Given the description of an element on the screen output the (x, y) to click on. 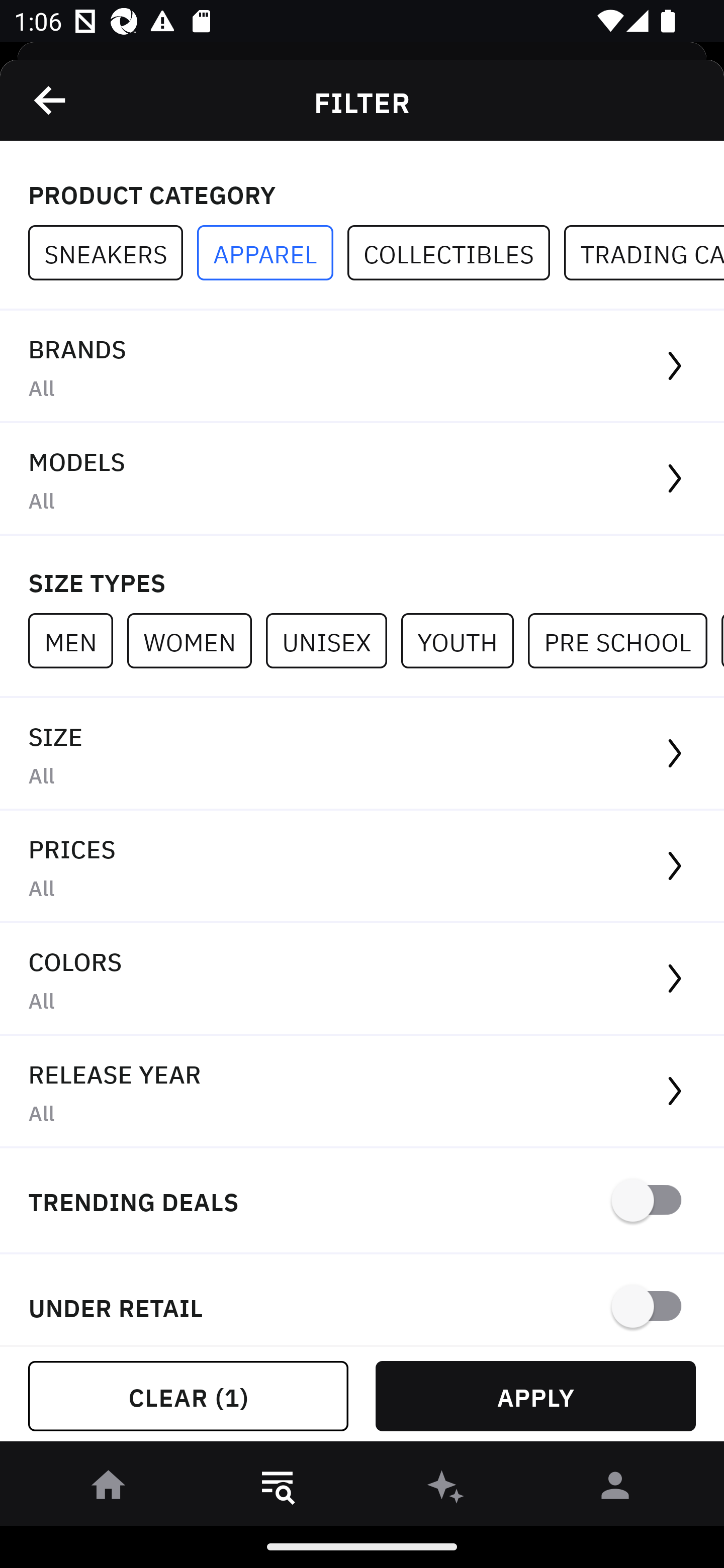
 (50, 100)
SNEAKERS (112, 252)
APPAREL (271, 252)
COLLECTIBLES (455, 252)
TRADING CARDS (643, 252)
BRANDS All (362, 366)
MODELS All (362, 479)
MEN (77, 640)
WOMEN (196, 640)
UNISEX (333, 640)
YOUTH (464, 640)
PRE SCHOOL (624, 640)
SIZE All (362, 753)
PRICES All (362, 866)
COLORS All (362, 979)
RELEASE YEAR All (362, 1091)
TRENDING DEALS (362, 1200)
UNDER RETAIL (362, 1299)
CLEAR (1) (188, 1396)
APPLY (535, 1396)
󰋜 (108, 1488)
󱎸 (277, 1488)
󰫢 (446, 1488)
󰀄 (615, 1488)
